Given the description of an element on the screen output the (x, y) to click on. 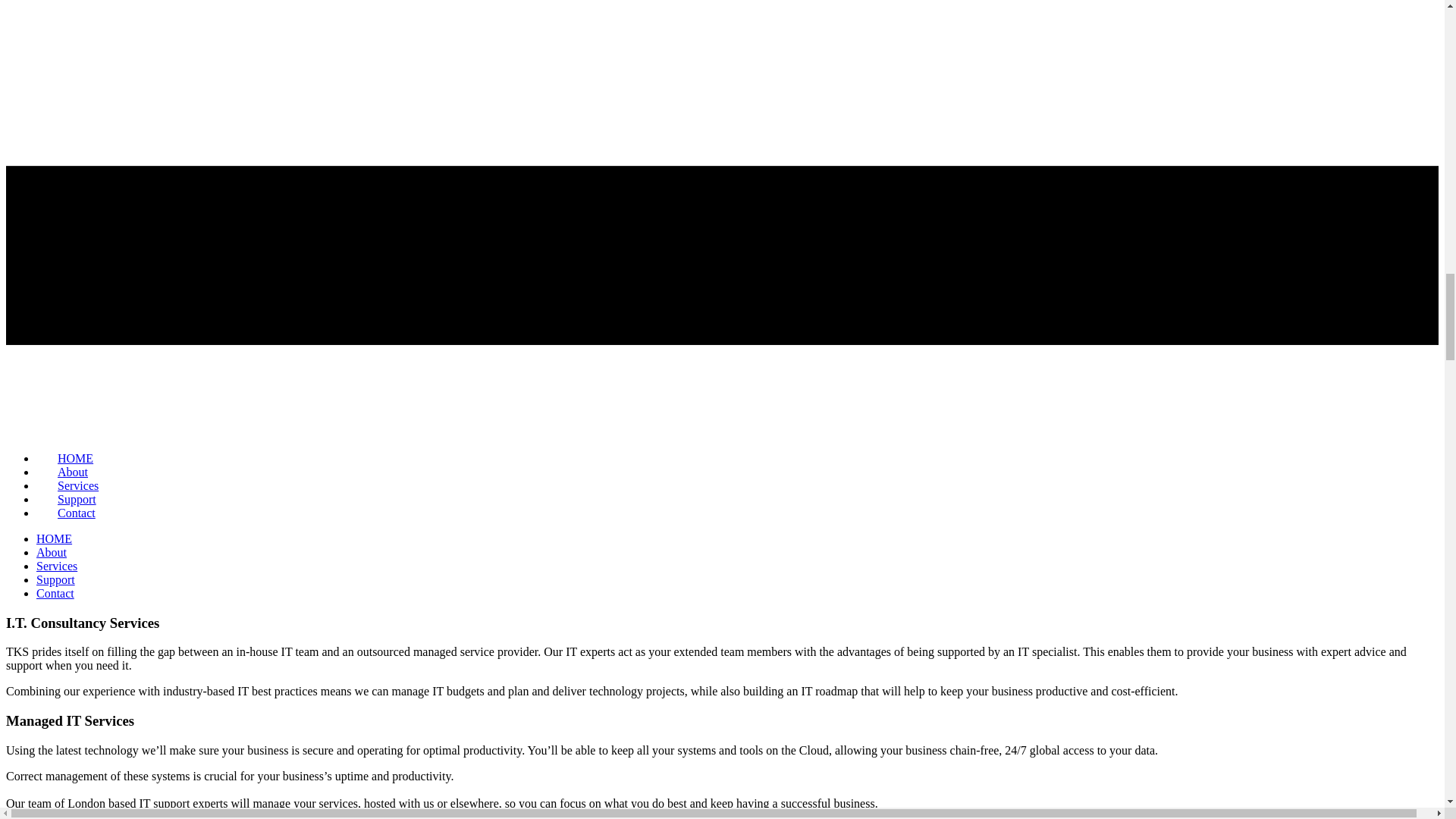
HOME (75, 457)
Contact (55, 593)
Services (77, 485)
About (51, 552)
Services (56, 565)
Contact (76, 512)
About (72, 471)
Support (55, 579)
Support (76, 498)
HOME (53, 538)
